Given the description of an element on the screen output the (x, y) to click on. 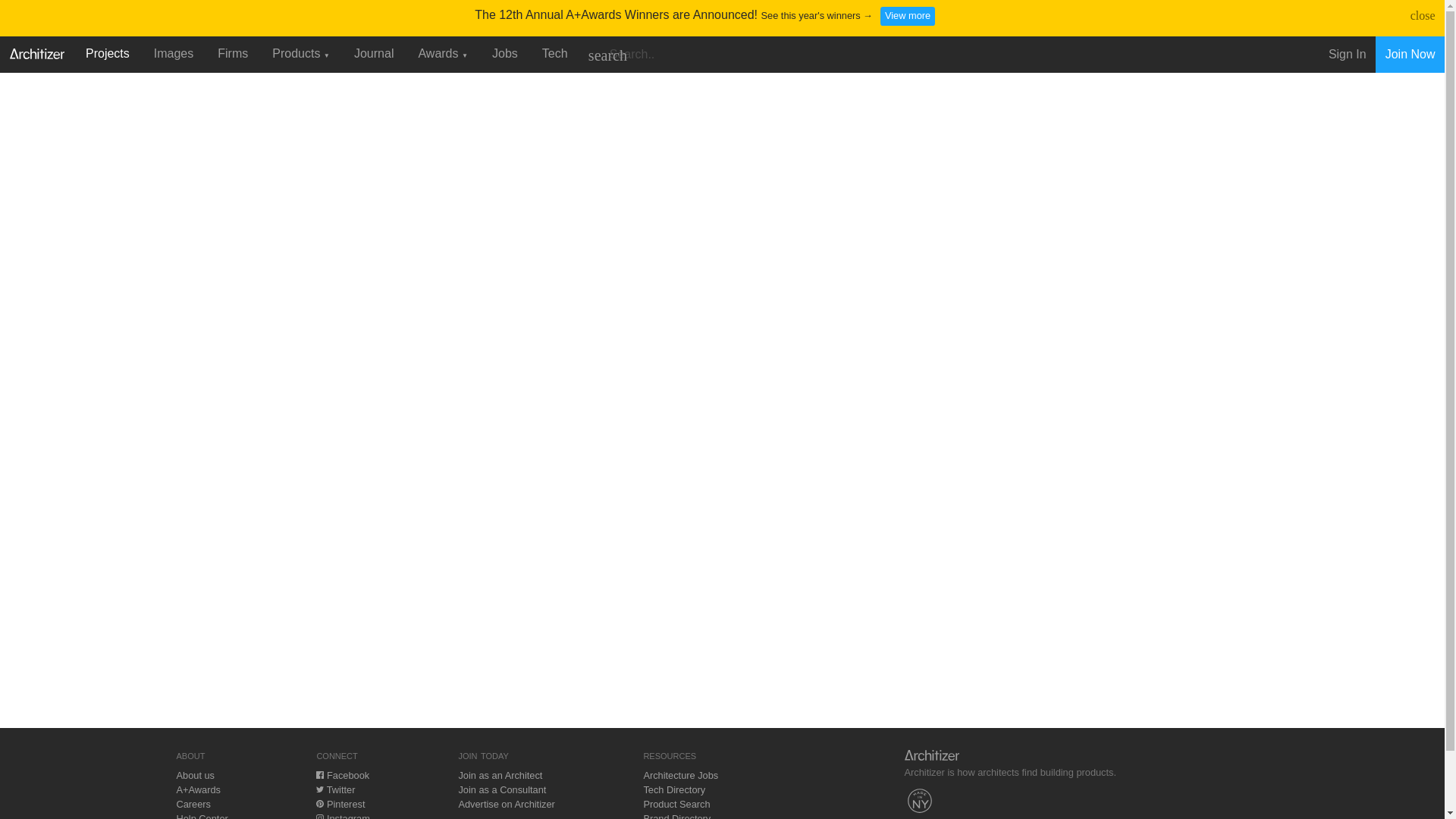
Twitter (335, 789)
search (606, 55)
Join as an Architect (499, 775)
Twitter icon (319, 789)
Journal (374, 53)
Architizer (36, 51)
About us (195, 775)
Instagram (342, 816)
Projects (107, 53)
Help Center (201, 816)
Sign In (1347, 54)
Pinterest (340, 803)
Pinterest icon (319, 803)
Firms (232, 53)
Jobs (504, 53)
